Given the description of an element on the screen output the (x, y) to click on. 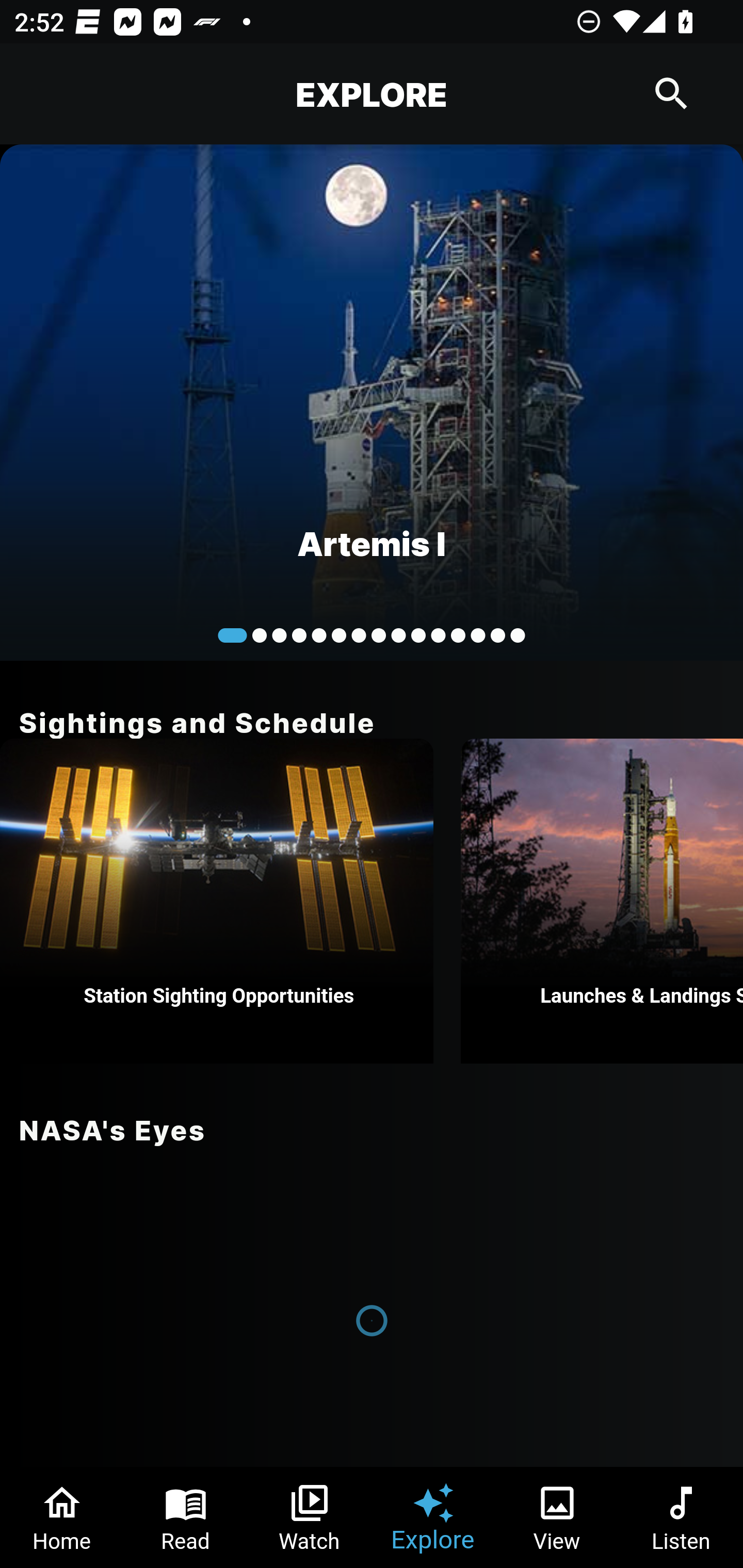
Artemis I
Hello World (371, 402)
Station Sighting Opportunities (216, 900)
Launches & Landings Schedule (601, 900)
Home
Tab 1 of 6 (62, 1517)
Read
Tab 2 of 6 (185, 1517)
Watch
Tab 3 of 6 (309, 1517)
Explore
Tab 4 of 6 (433, 1517)
View
Tab 5 of 6 (556, 1517)
Listen
Tab 6 of 6 (680, 1517)
